Given the description of an element on the screen output the (x, y) to click on. 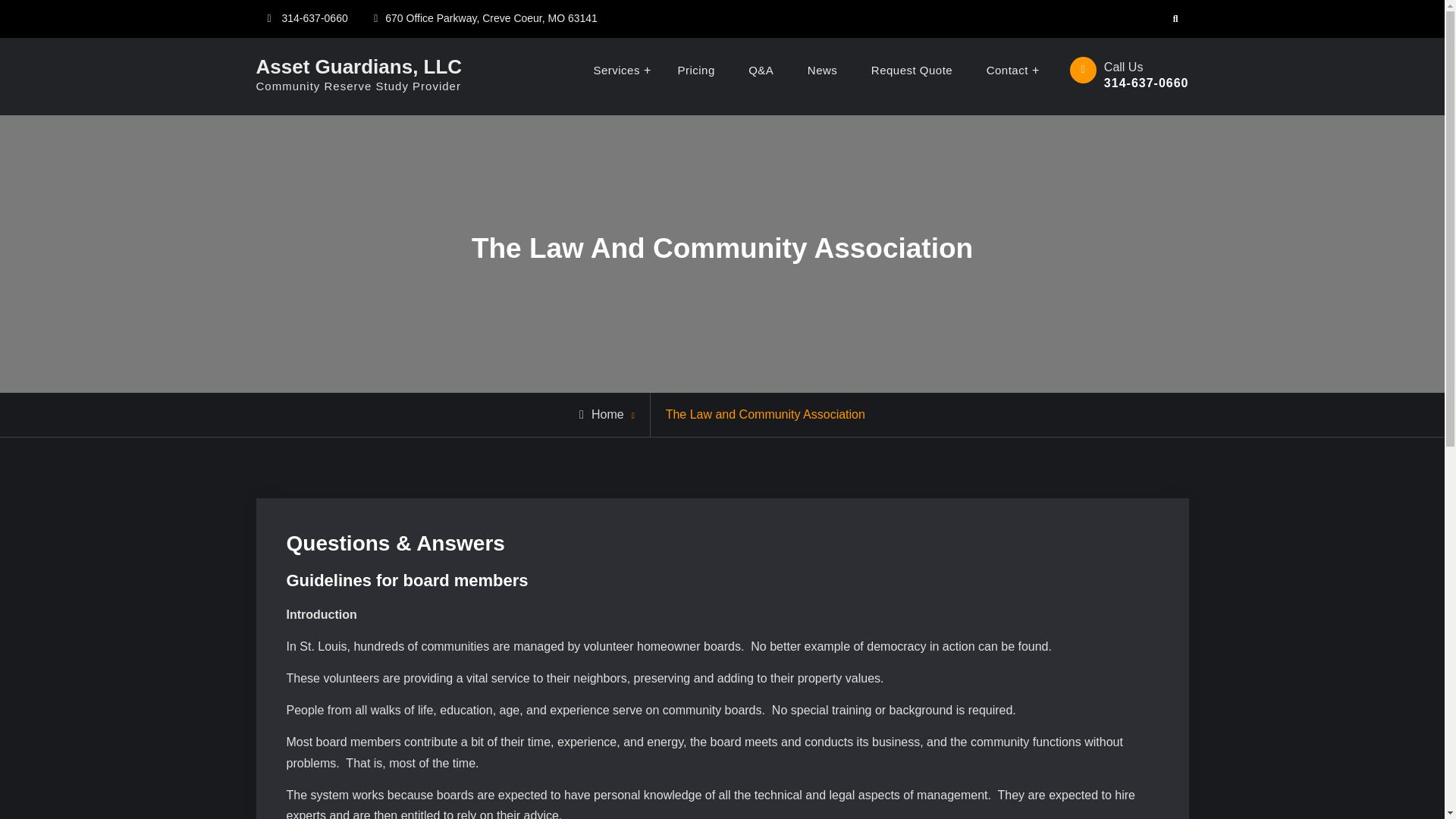
Pricing (695, 69)
Search (1174, 18)
Request Quote (912, 69)
314-637-0660 (1146, 82)
Contact (1008, 69)
Home (601, 413)
News (822, 69)
314-637-0660 (314, 18)
Services (618, 69)
Asset Guardians, LLC (359, 65)
